Given the description of an element on the screen output the (x, y) to click on. 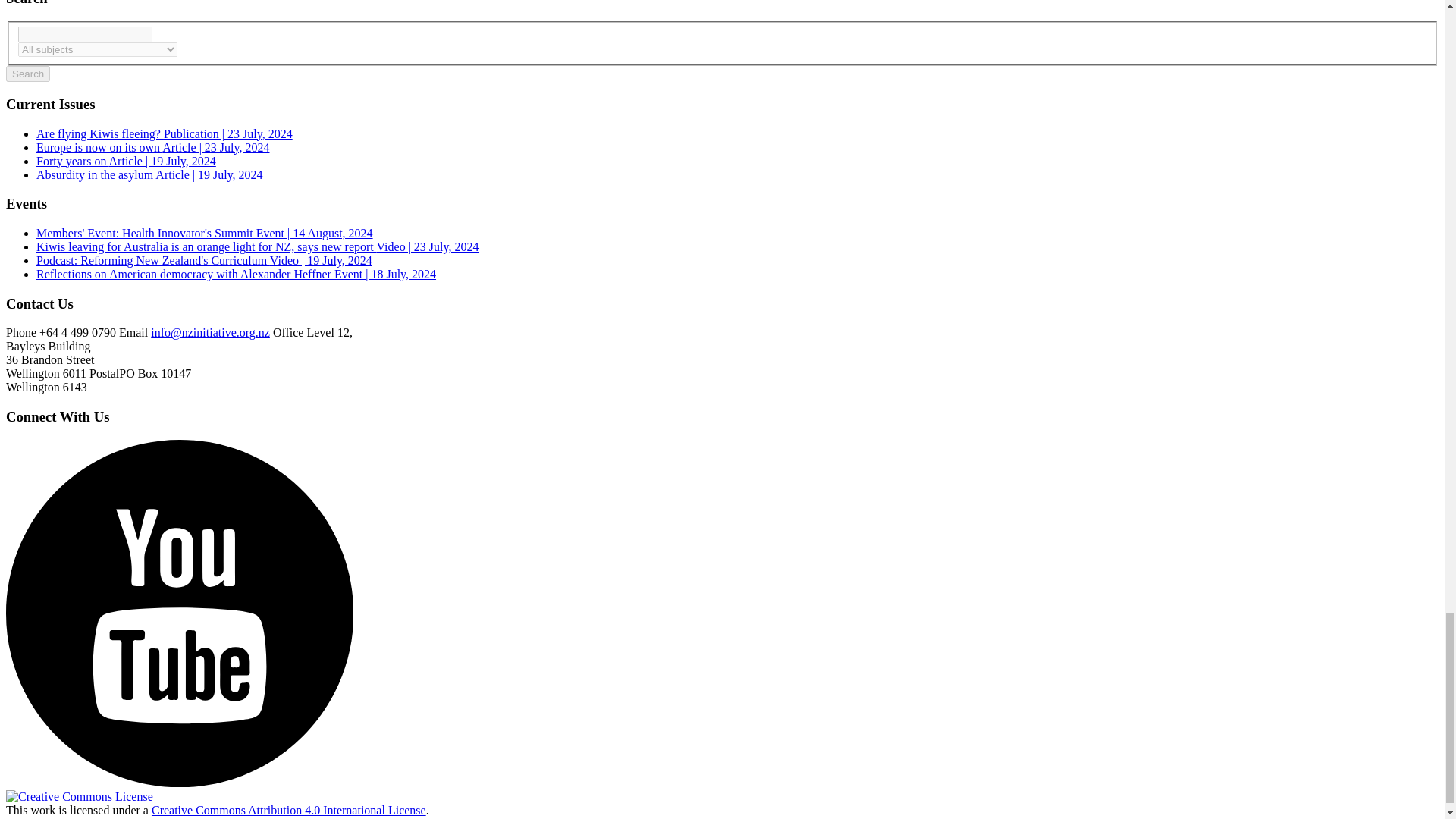
Members' Event: Health Innovator's Summit (204, 232)
Europe is now on its own (152, 146)
Podcast: Reforming New Zealand's Curriculum (204, 259)
Absurdity in the asylum (149, 174)
Search (27, 73)
Reflections on American democracy with Alexander Heffner (235, 273)
Are flying Kiwis fleeing? (164, 133)
Forty years on (125, 160)
